Given the description of an element on the screen output the (x, y) to click on. 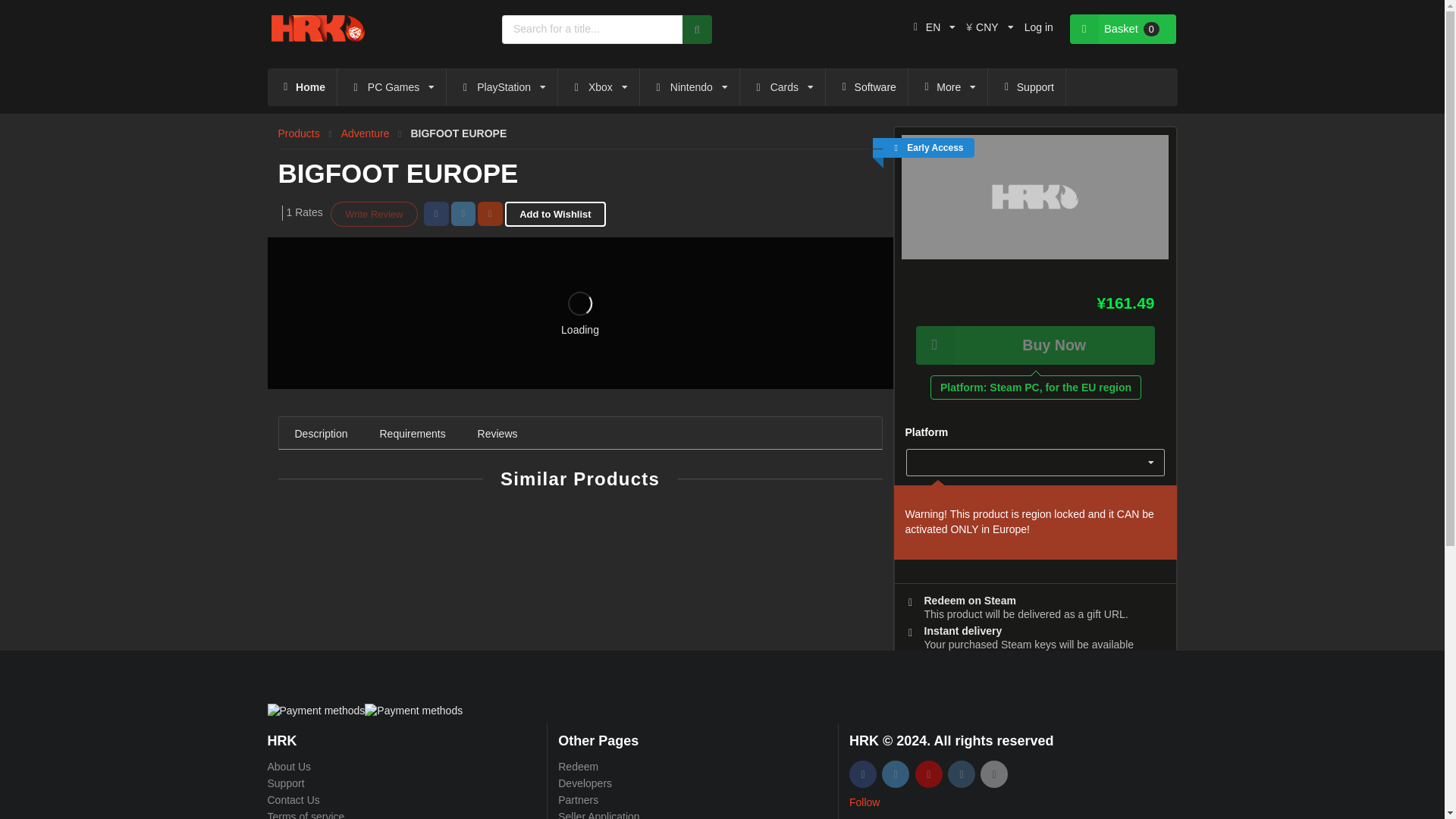
hrkgame.com (317, 28)
Buy BIGFOOT EUROPE for Steam PC (1034, 197)
